Given the description of an element on the screen output the (x, y) to click on. 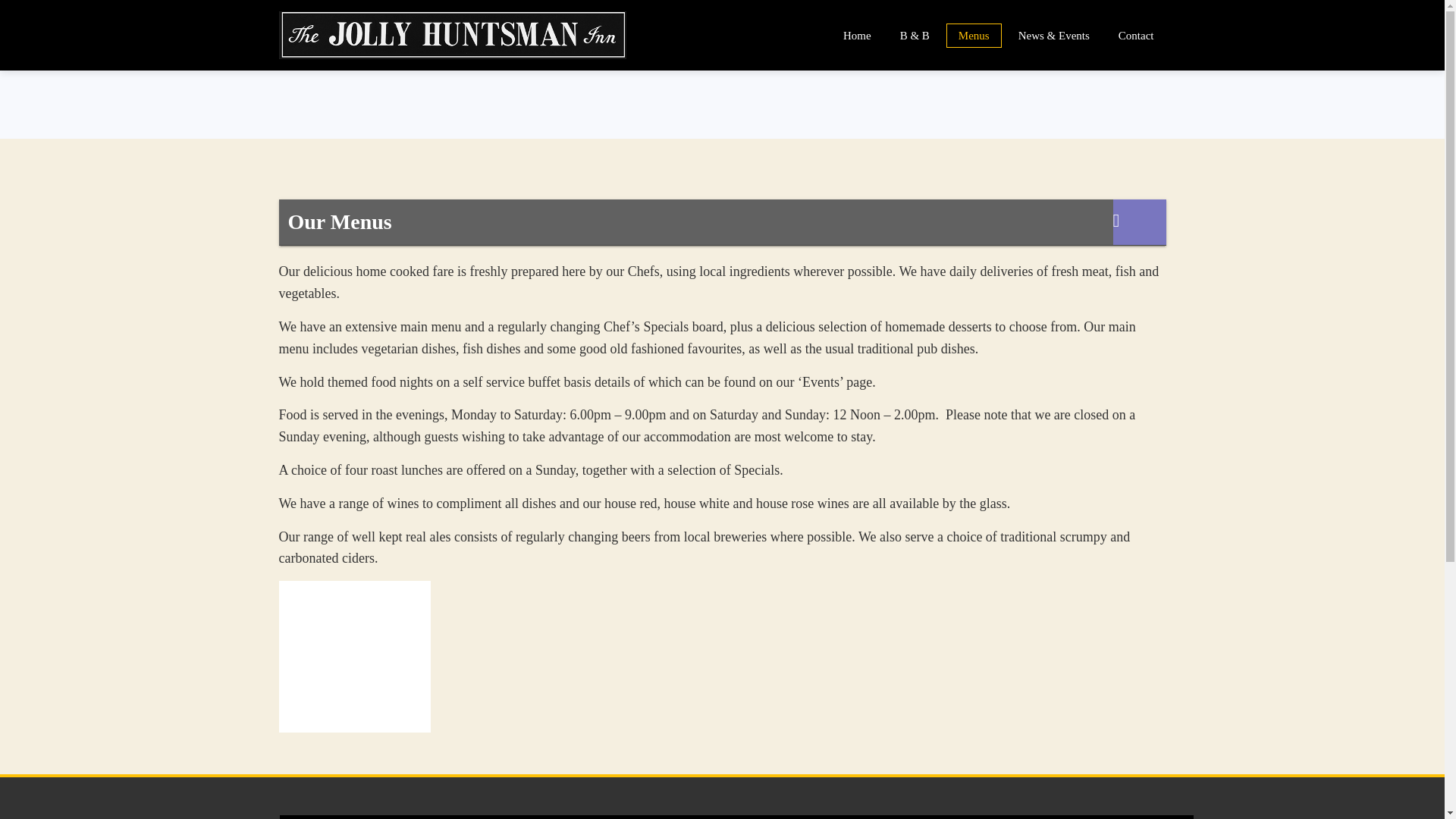
Menus (973, 34)
Contact (1136, 34)
Home (857, 34)
